Given the description of an element on the screen output the (x, y) to click on. 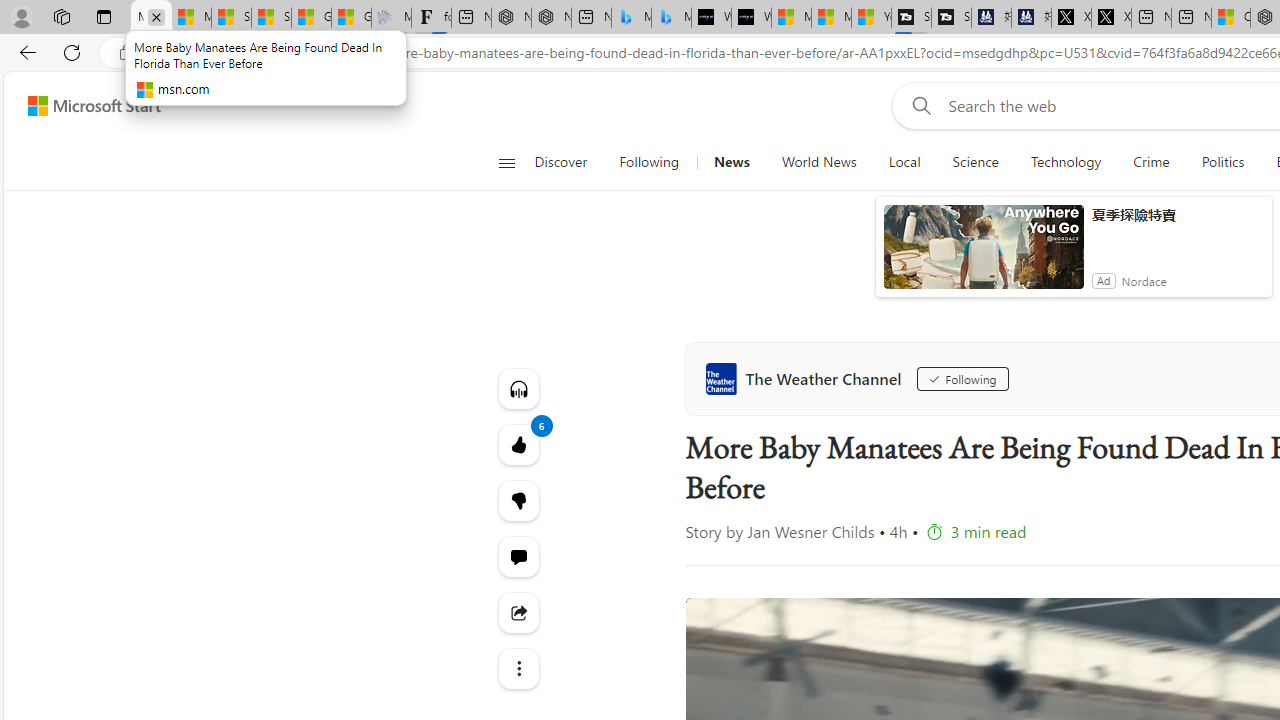
What's the best AI voice generator? - voice.ai (751, 17)
anim-content (983, 255)
Streaming Coverage | T3 (911, 17)
Microsoft Start Sports (791, 17)
Skip to content (86, 105)
Listen to this article (517, 388)
Start the conversation (517, 556)
Microsoft Bing Travel - Stays in Bangkok, Bangkok, Thailand (631, 17)
6 Like (517, 444)
